Given the description of an element on the screen output the (x, y) to click on. 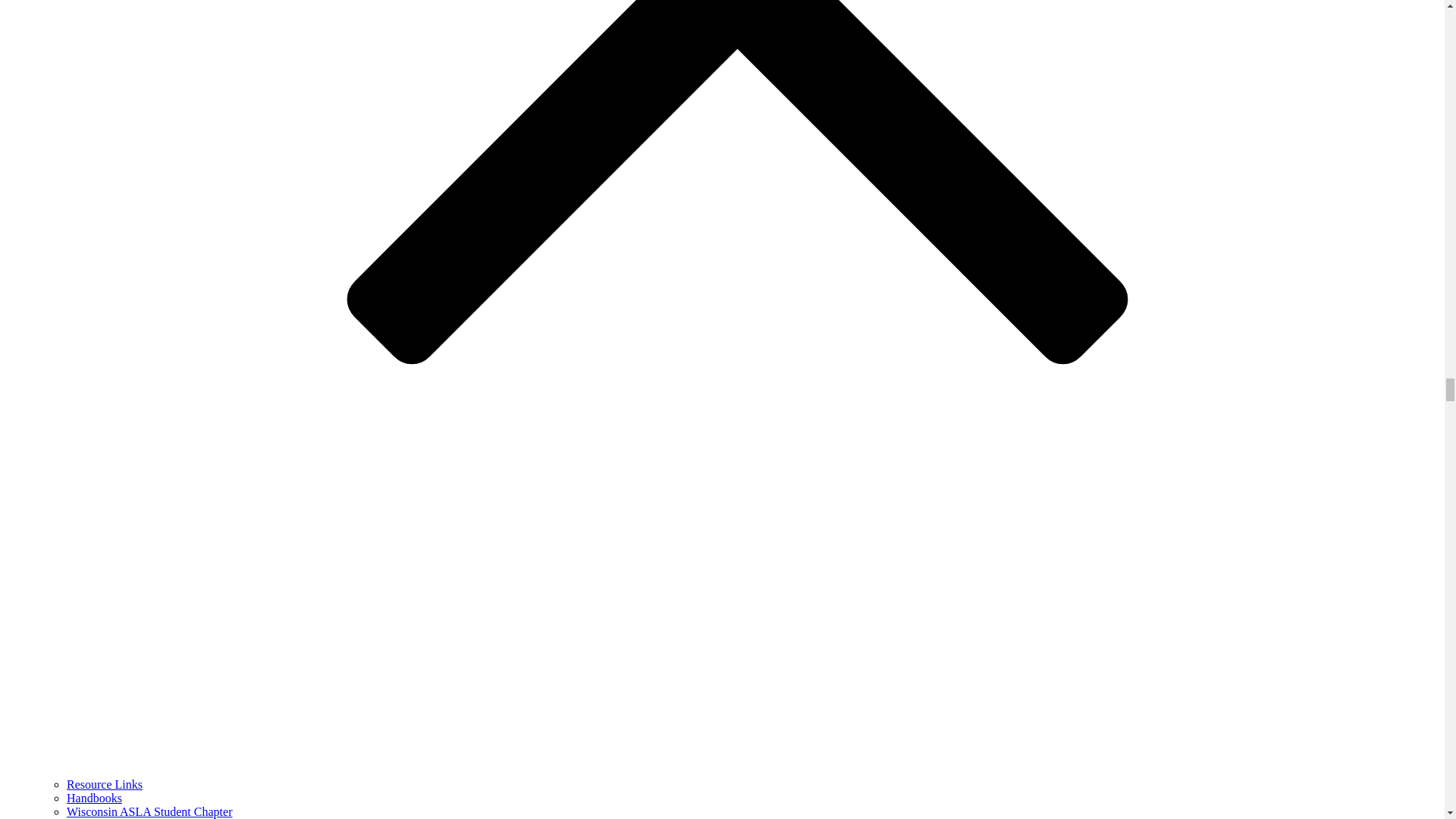
Wisconsin ASLA Student Chapter (148, 811)
Resource Links (104, 784)
Handbooks (94, 797)
